Given the description of an element on the screen output the (x, y) to click on. 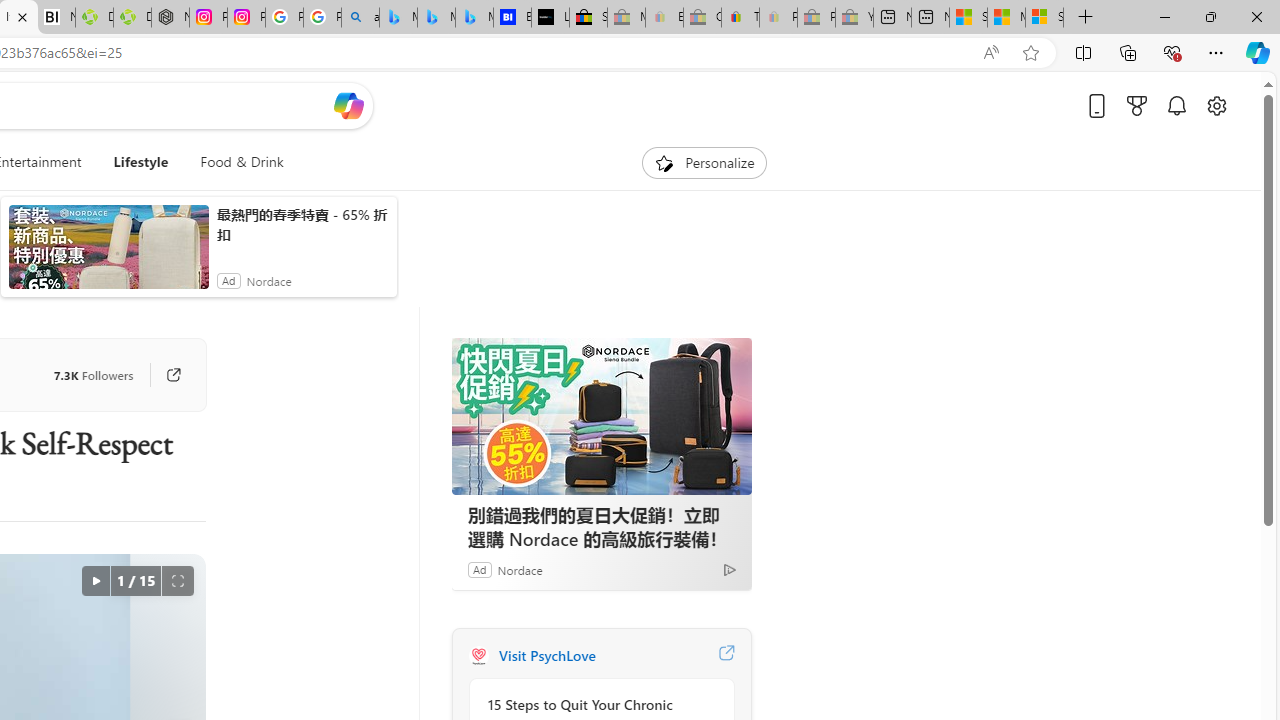
alabama high school quarterback dies - Search (359, 17)
Microsoft rewards (1137, 105)
Open settings (1216, 105)
Visit PsychLove website (726, 655)
Go to publisher's site (163, 374)
